Given the description of an element on the screen output the (x, y) to click on. 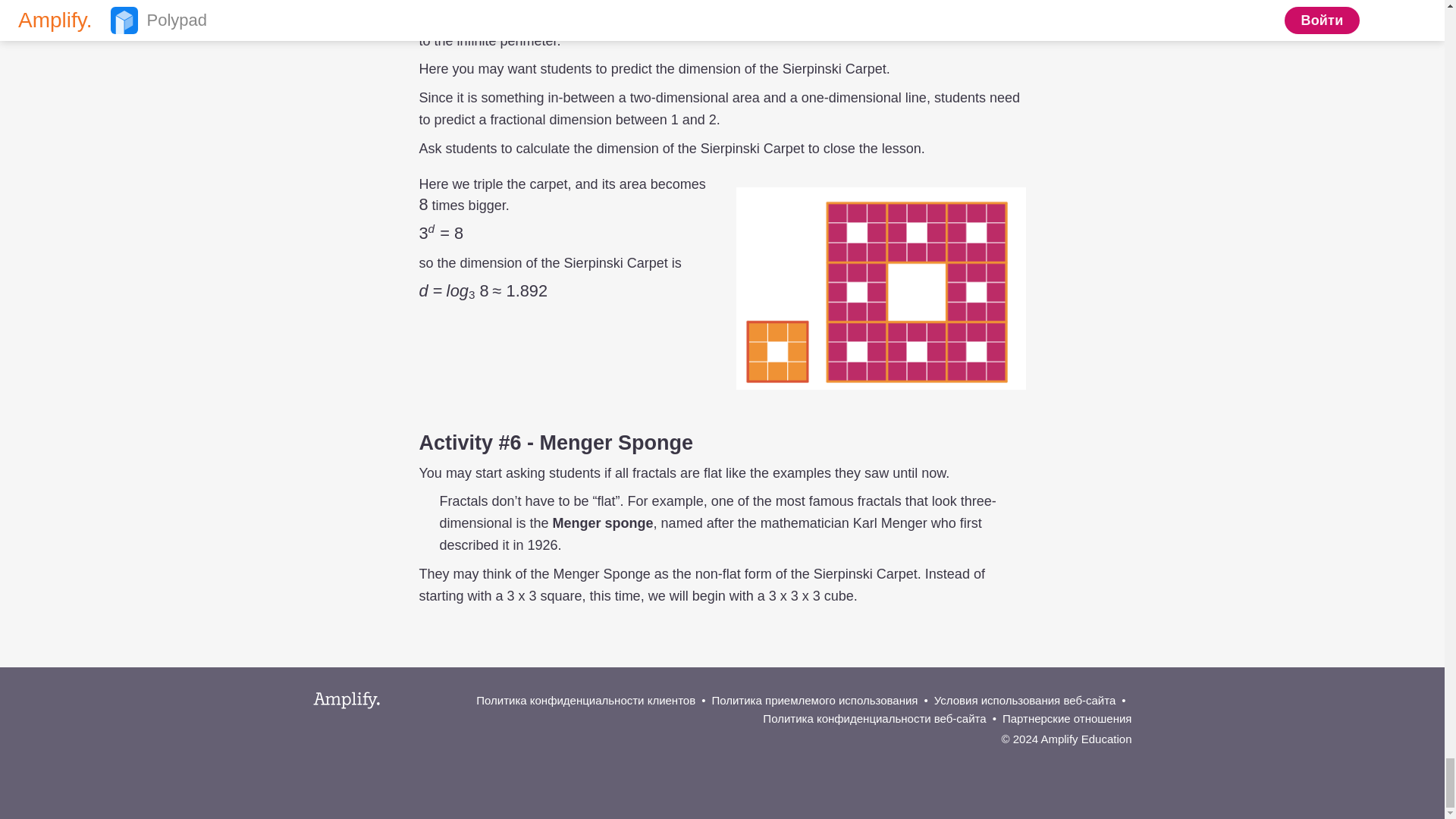
Instagram (1092, 761)
Amplify (345, 699)
Facebook (1067, 761)
YouTube (1118, 761)
Twitter (1040, 761)
